Given the description of an element on the screen output the (x, y) to click on. 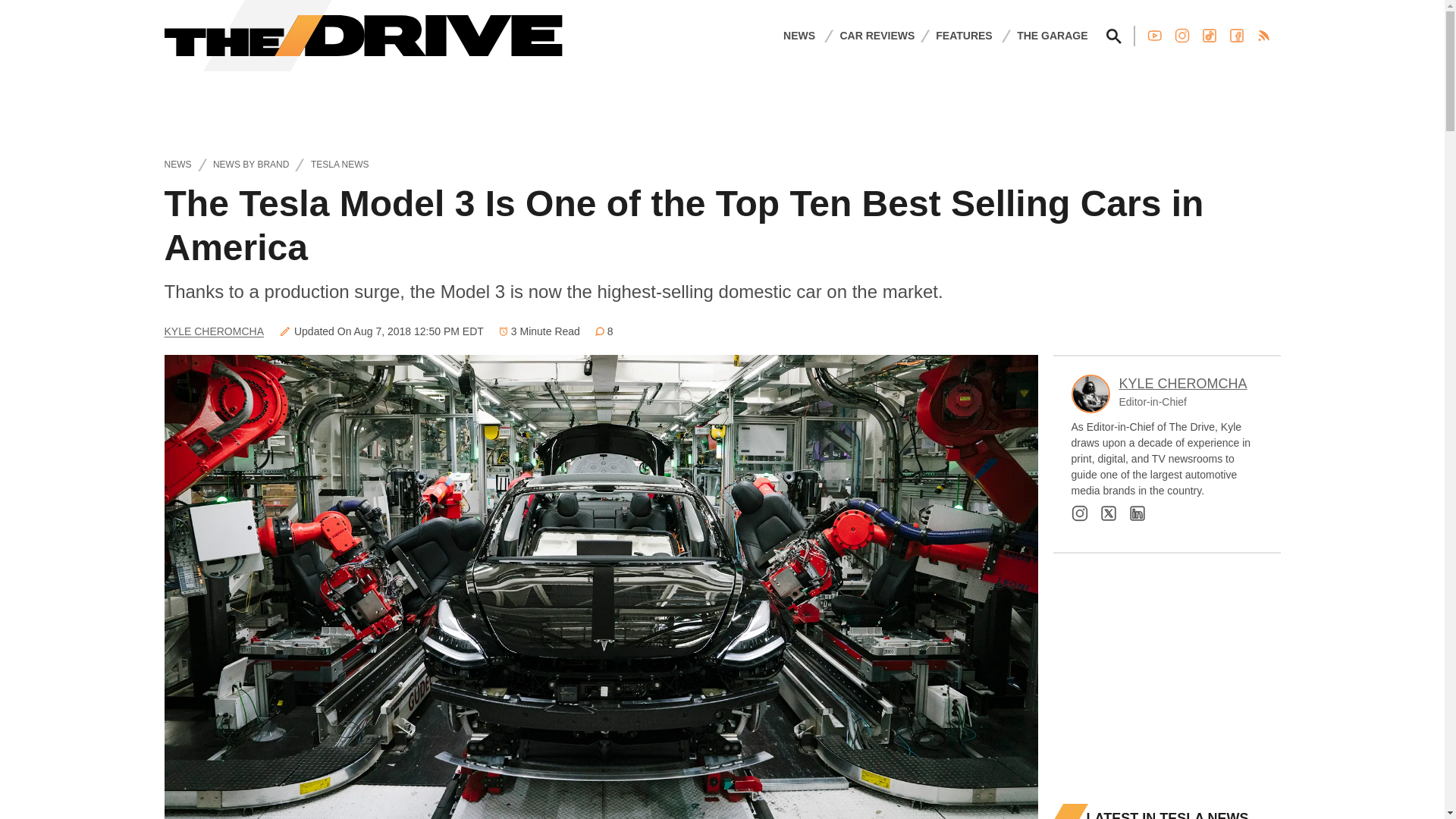
NEWS (799, 34)
